Given the description of an element on the screen output the (x, y) to click on. 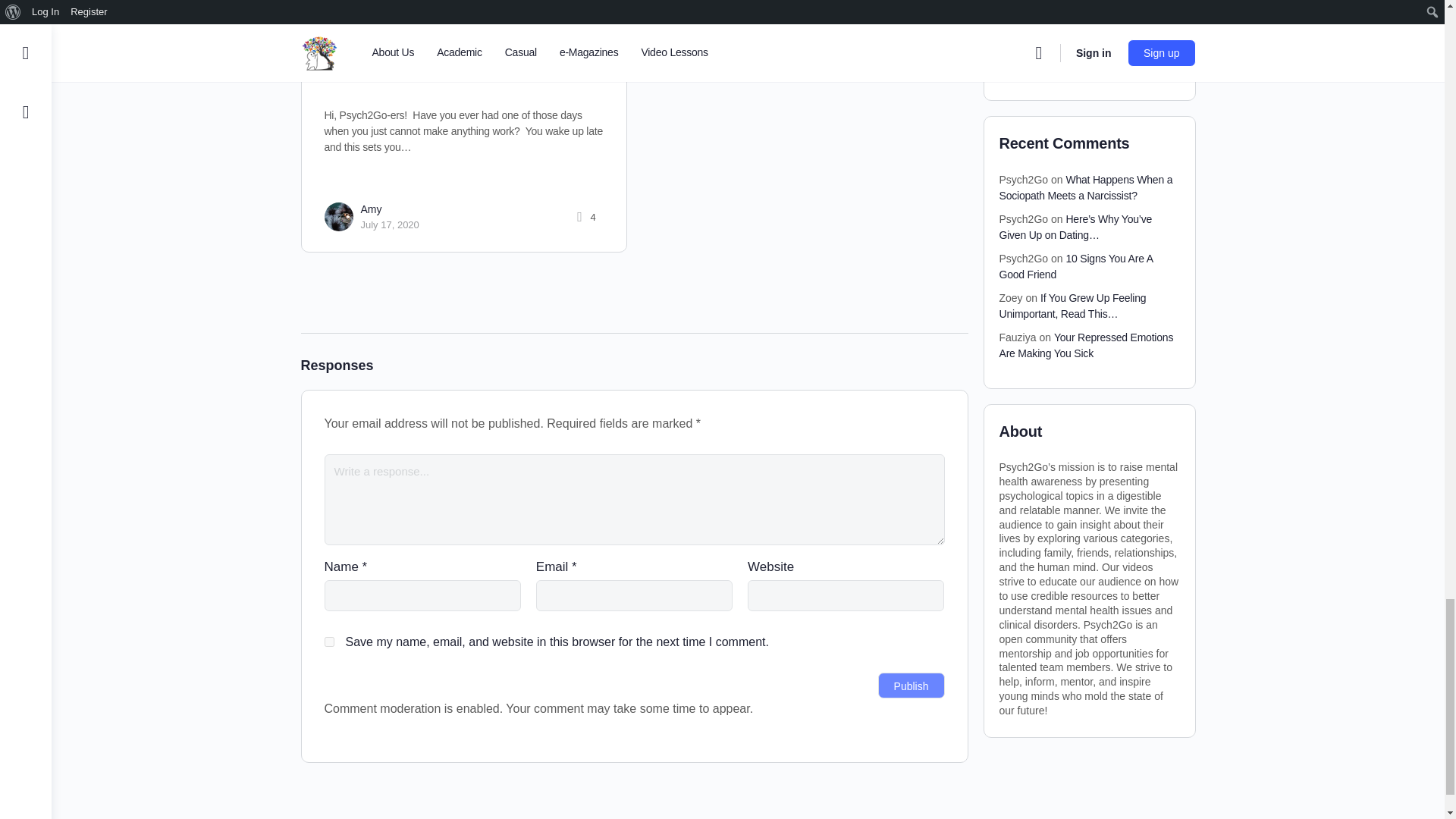
Publish (910, 685)
